Given the description of an element on the screen output the (x, y) to click on. 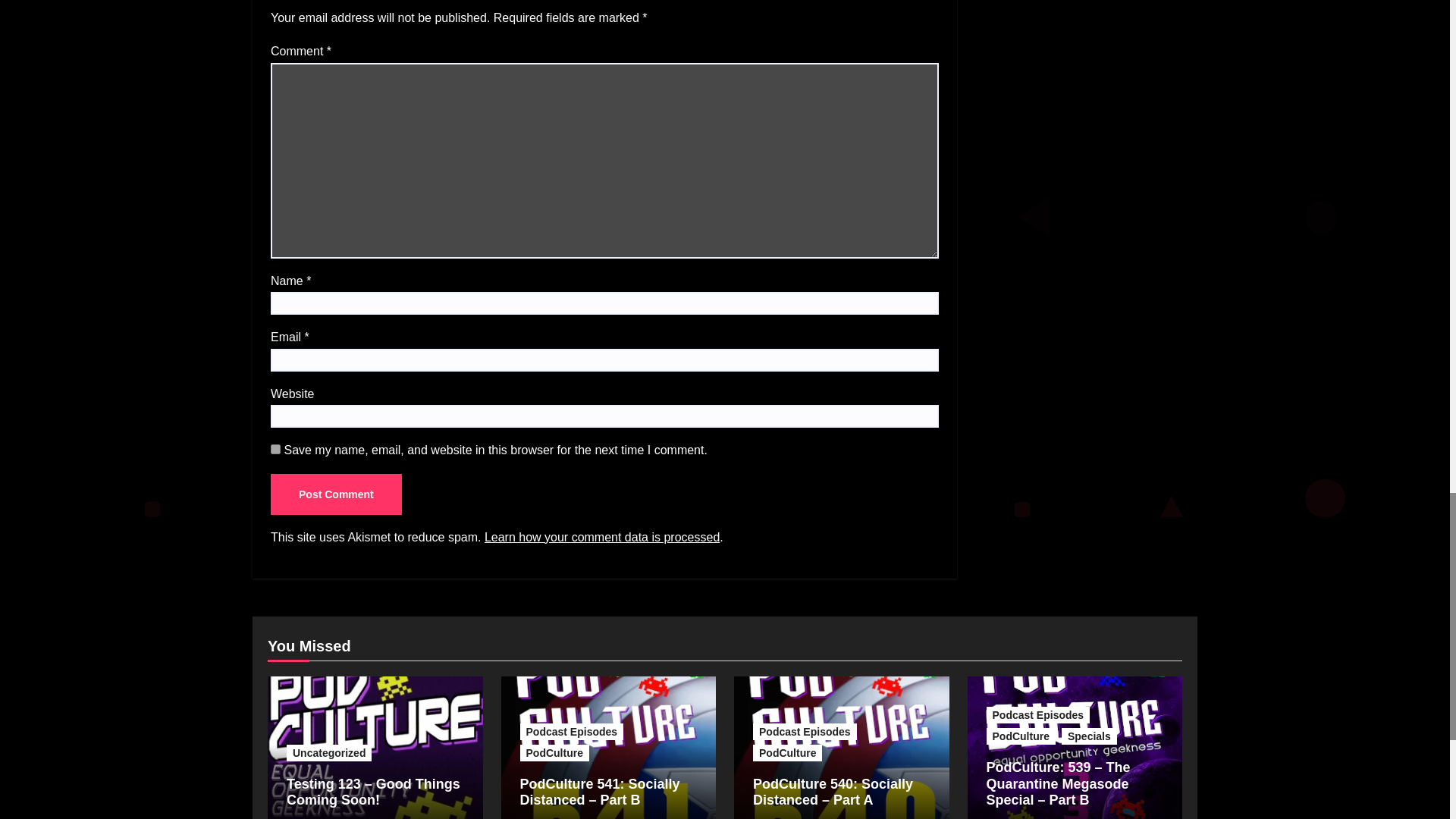
yes (275, 449)
Post Comment (335, 494)
